Given the description of an element on the screen output the (x, y) to click on. 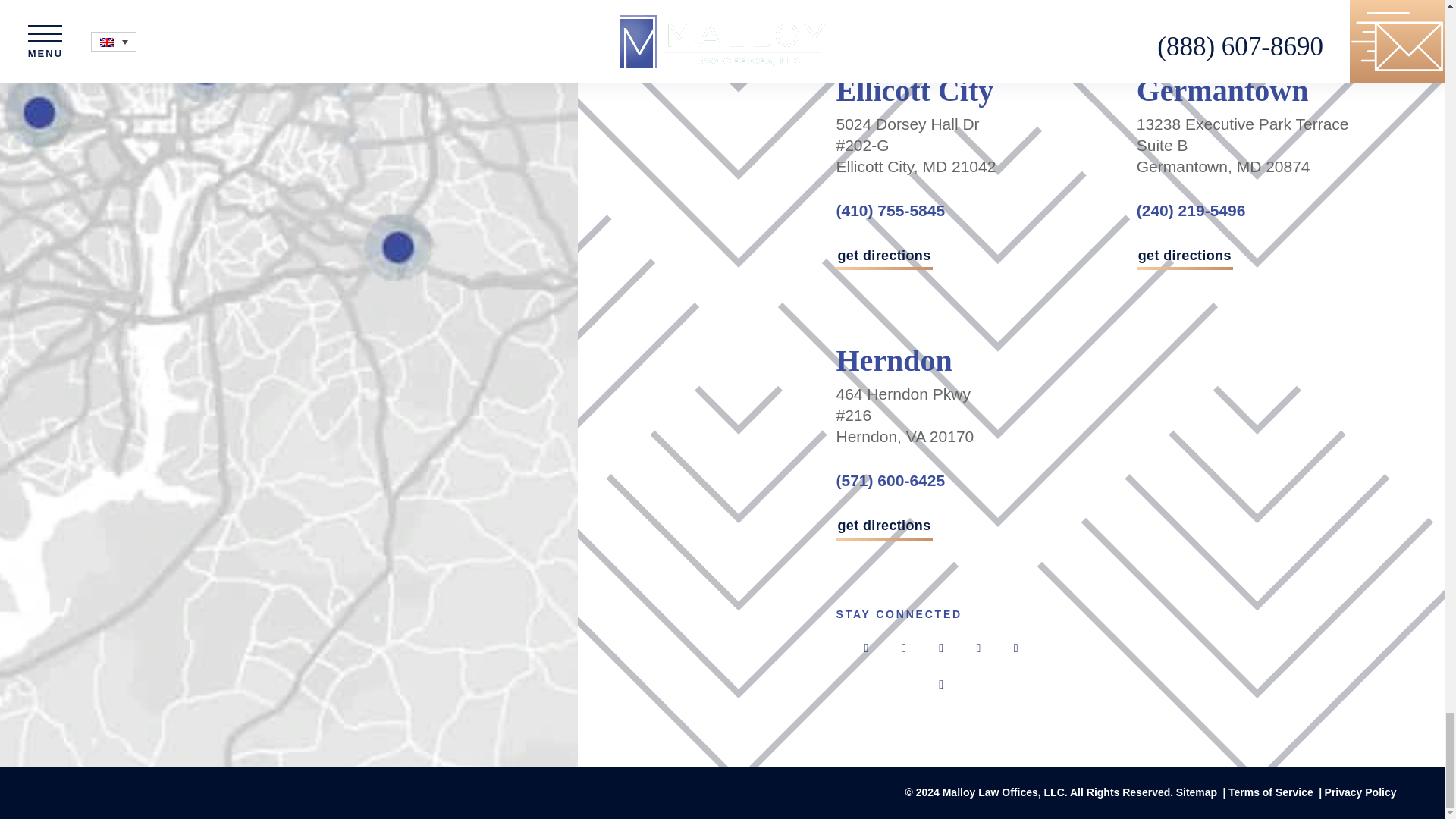
Call us (1191, 210)
Call us (889, 479)
Call us (889, 210)
